Given the description of an element on the screen output the (x, y) to click on. 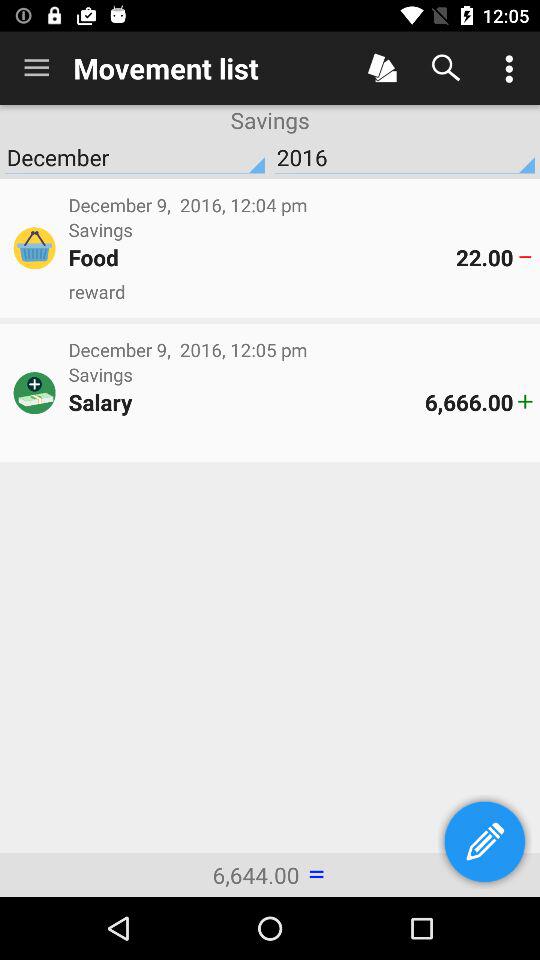
turn on the icon above the savings item (36, 68)
